Given the description of an element on the screen output the (x, y) to click on. 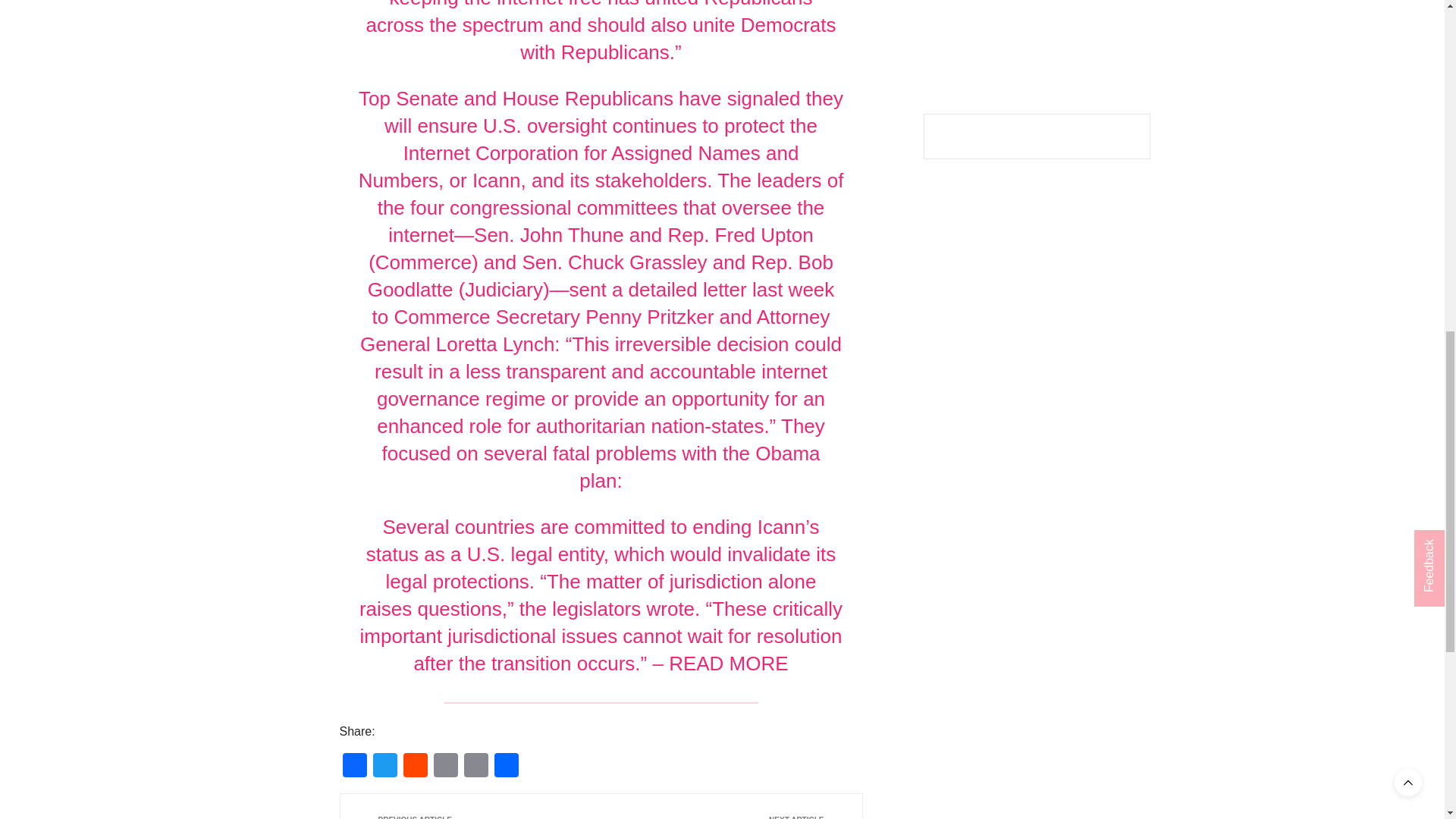
Reddit (415, 766)
Twitter (384, 766)
READ MORE (727, 662)
Copy Link (476, 766)
Share (506, 766)
Facebook (354, 766)
Reddit (415, 766)
Facebook (354, 766)
